Given the description of an element on the screen output the (x, y) to click on. 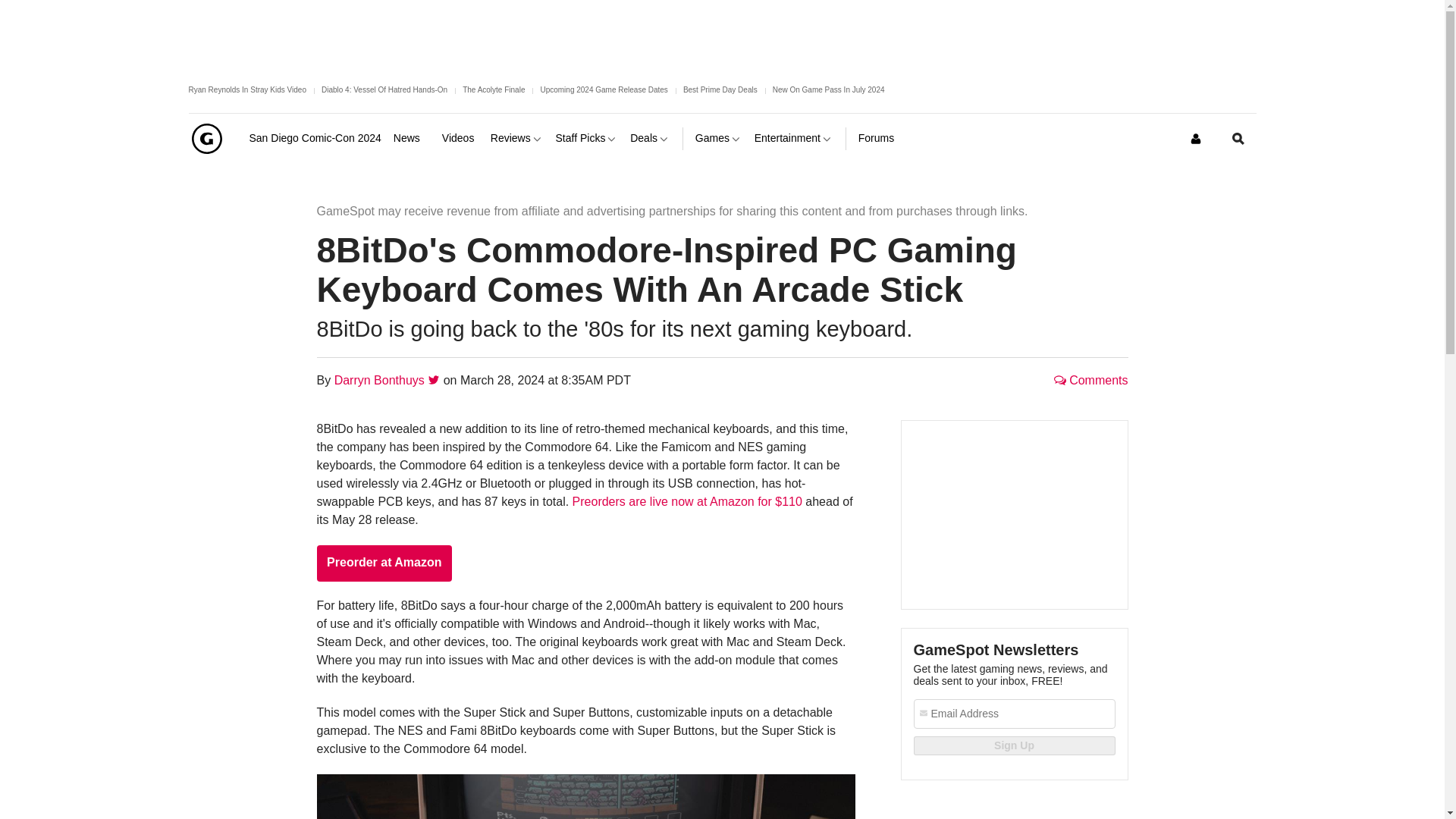
Diablo 4: Vessel Of Hatred Hands-On (383, 89)
Reviews (516, 138)
New On Game Pass In July 2024 (829, 89)
Ryan Reynolds In Stray Kids Video (246, 89)
Best Prime Day Deals (719, 89)
Deals (649, 138)
News (411, 138)
Upcoming 2024 Game Release Dates (603, 89)
The Acolyte Finale (493, 89)
Games (718, 138)
Videos (460, 138)
Staff Picks (587, 138)
San Diego Comic-Con 2024 (314, 138)
GameSpot (205, 138)
